Given the description of an element on the screen output the (x, y) to click on. 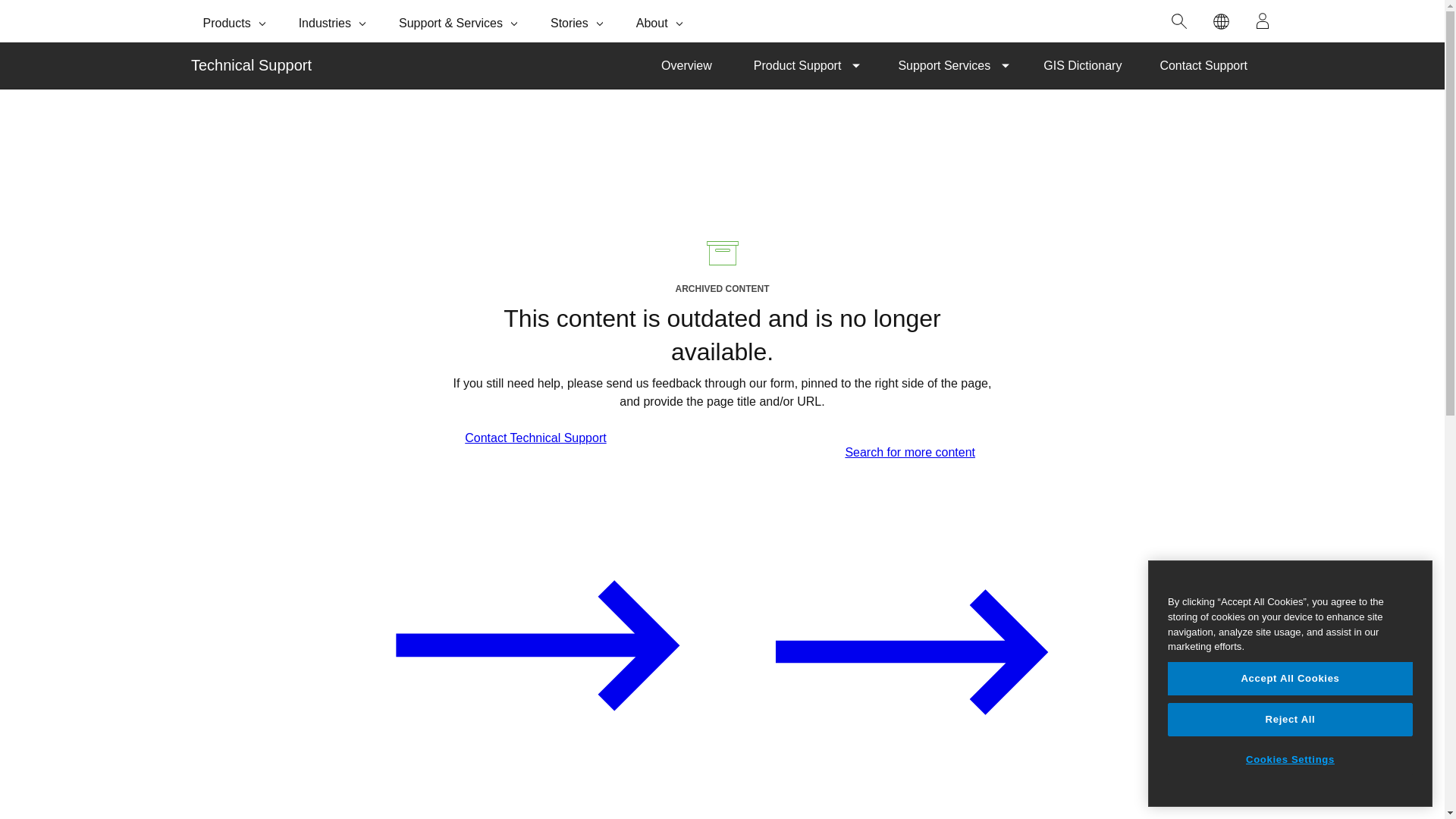
Industries (333, 20)
Products (235, 20)
Sign In (1262, 20)
Switch Language (1220, 20)
Search (1178, 20)
